Given the description of an element on the screen output the (x, y) to click on. 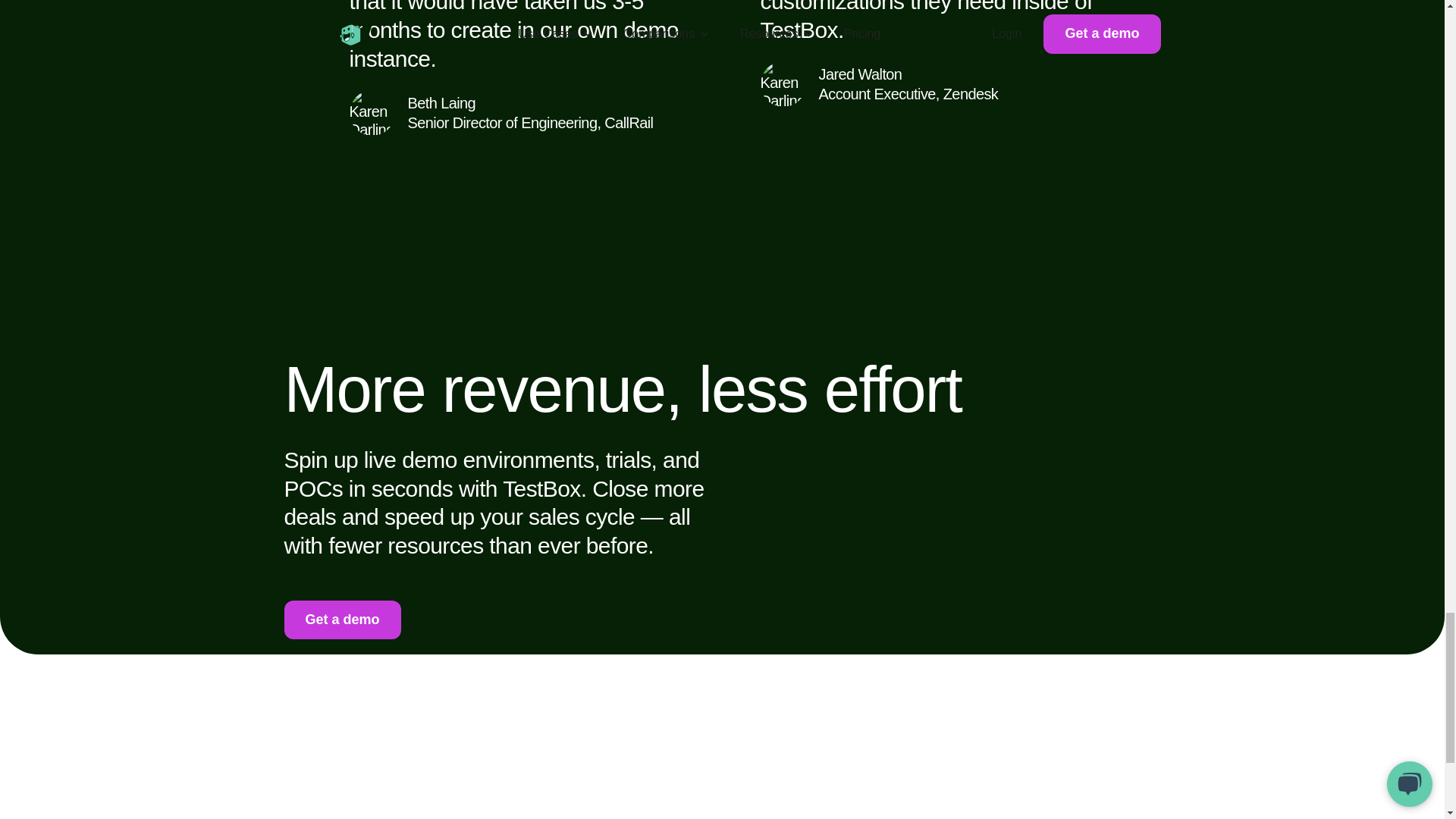
Get a demo (341, 619)
